Given the description of an element on the screen output the (x, y) to click on. 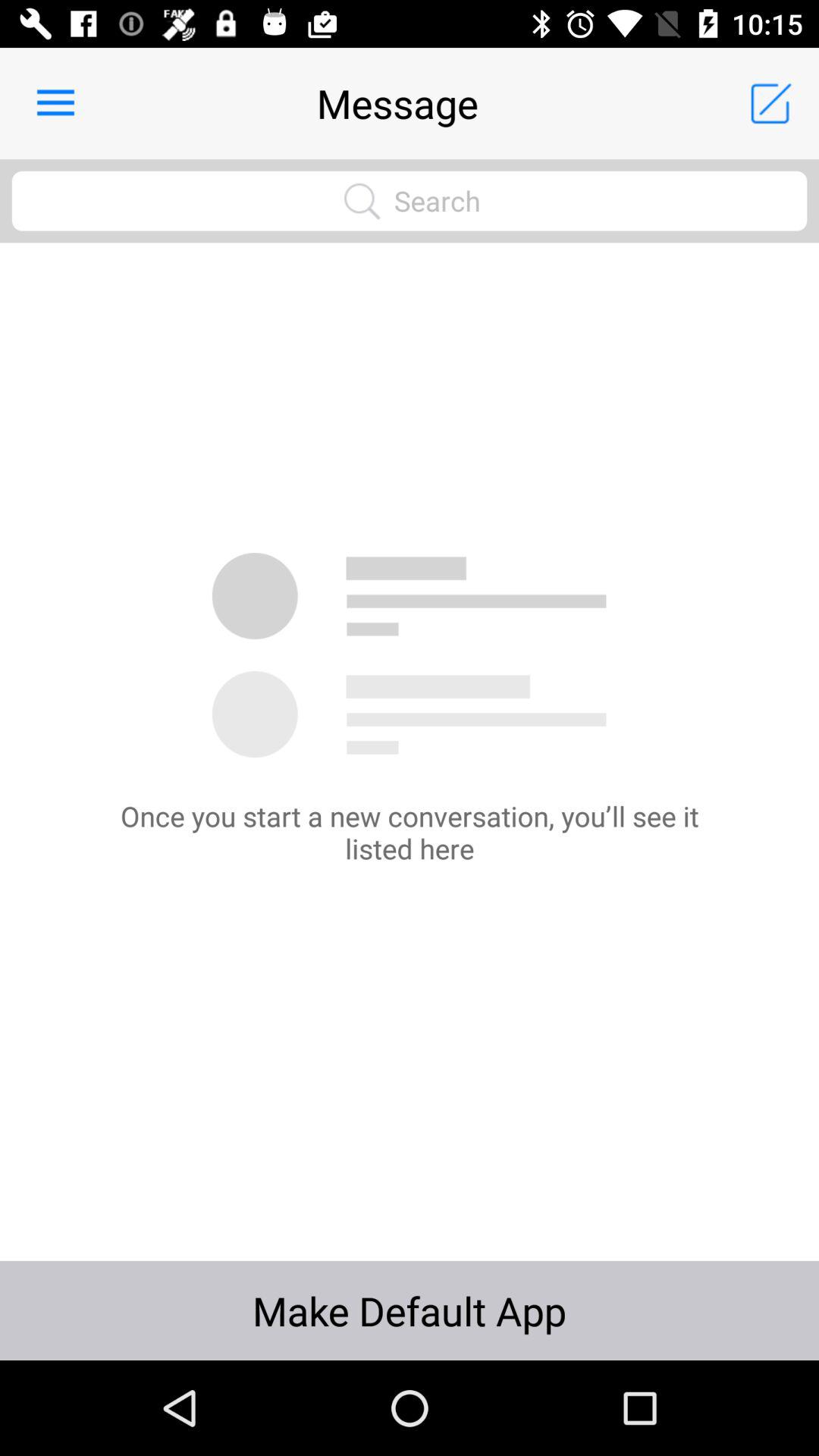
jump to make default app icon (409, 1310)
